Given the description of an element on the screen output the (x, y) to click on. 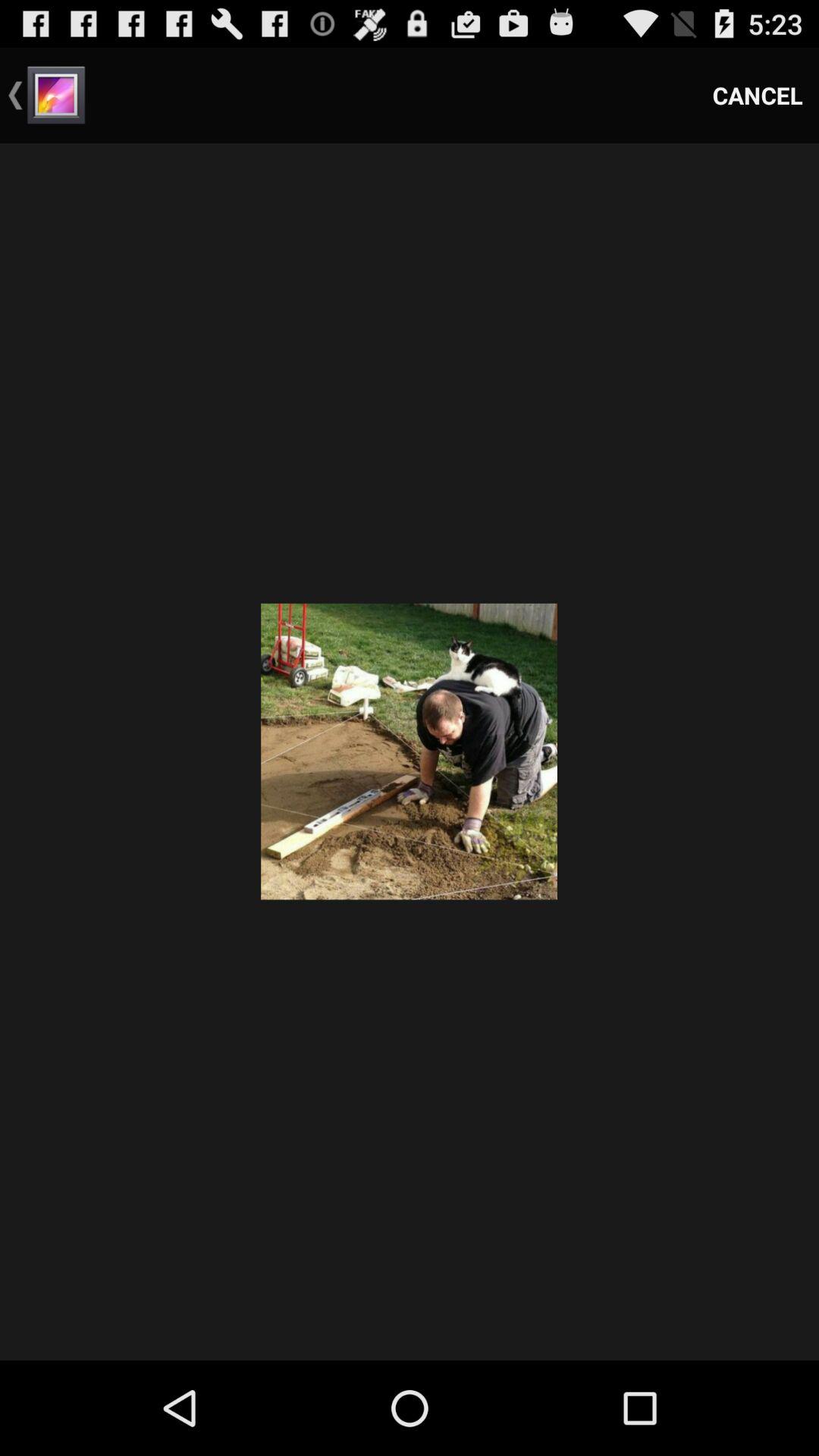
choose the cancel item (757, 95)
